Given the description of an element on the screen output the (x, y) to click on. 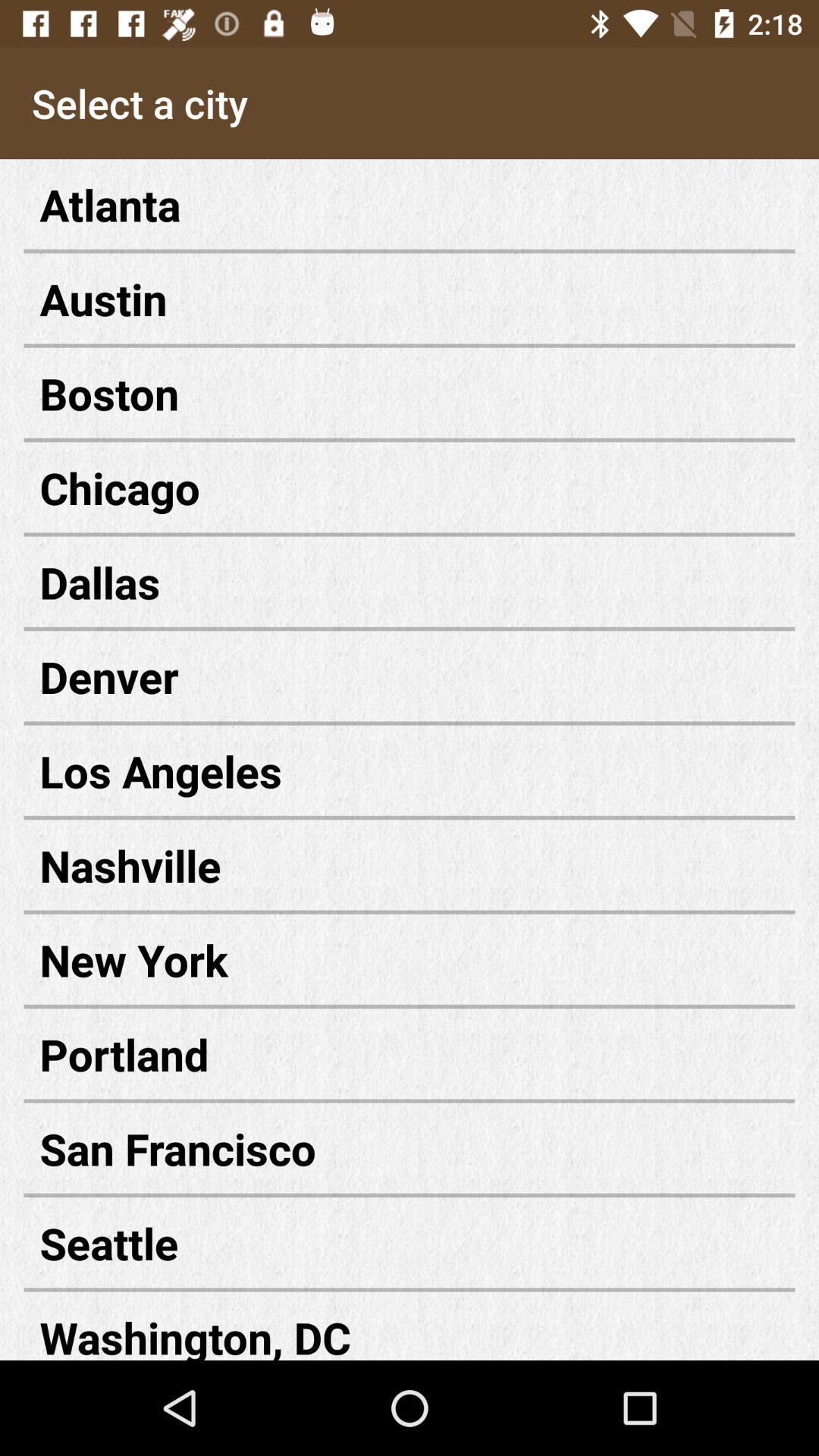
swipe to the portland item (409, 1053)
